Given the description of an element on the screen output the (x, y) to click on. 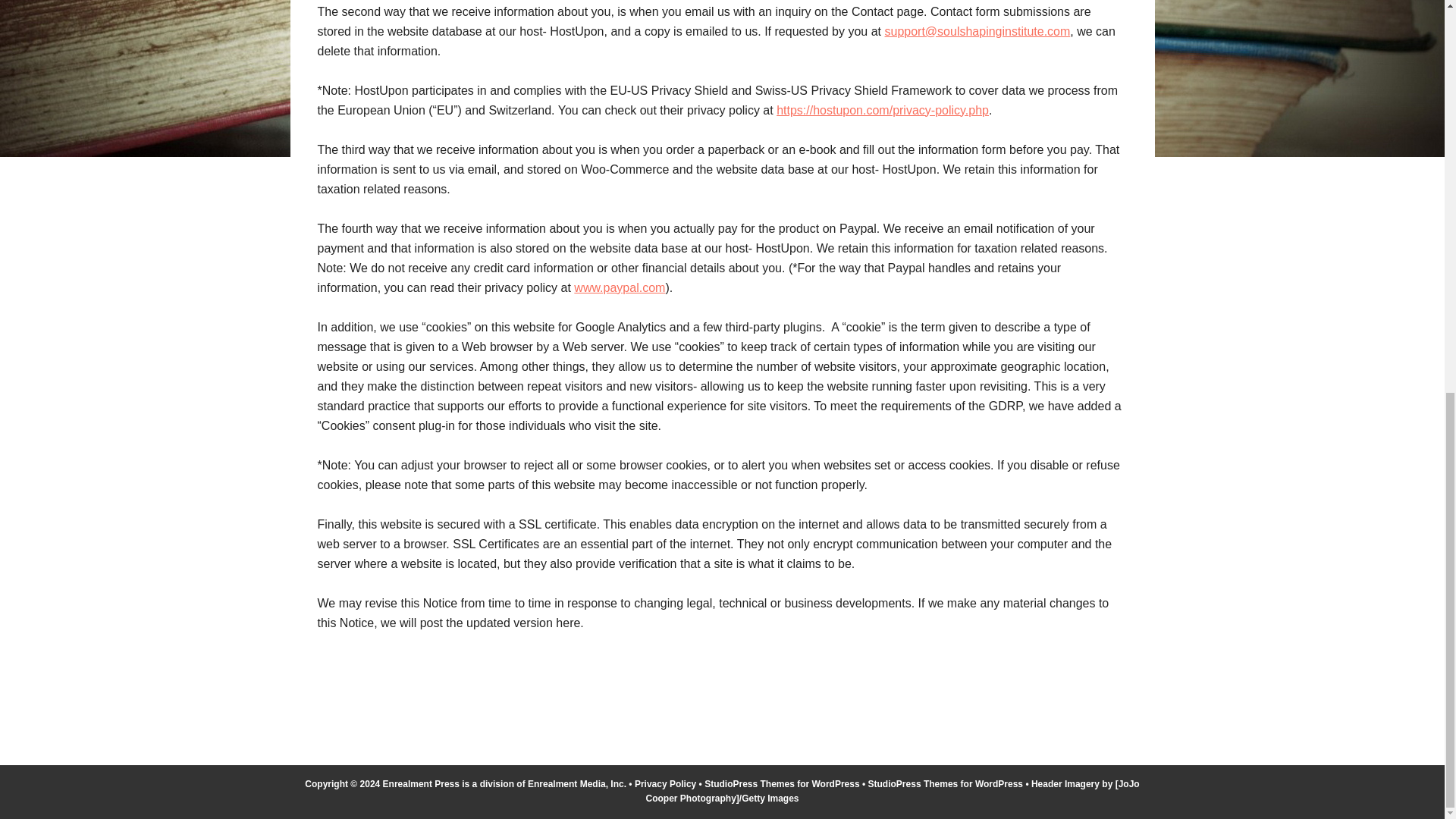
StudioPress Themes for WordPress (782, 783)
www.paypal.com (619, 287)
StudioPress Themes for WordPress (945, 783)
Privacy Policy (664, 783)
